Given the description of an element on the screen output the (x, y) to click on. 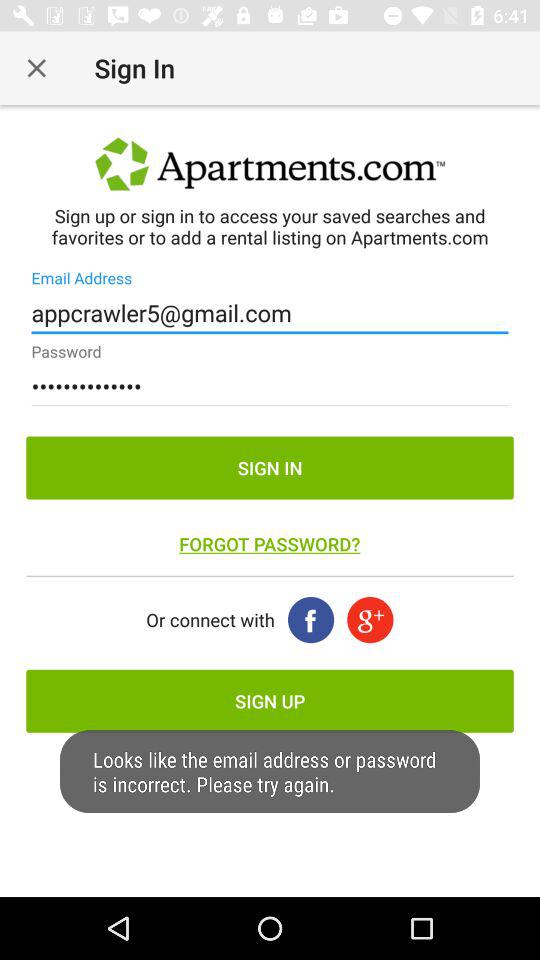
close (36, 68)
